Given the description of an element on the screen output the (x, y) to click on. 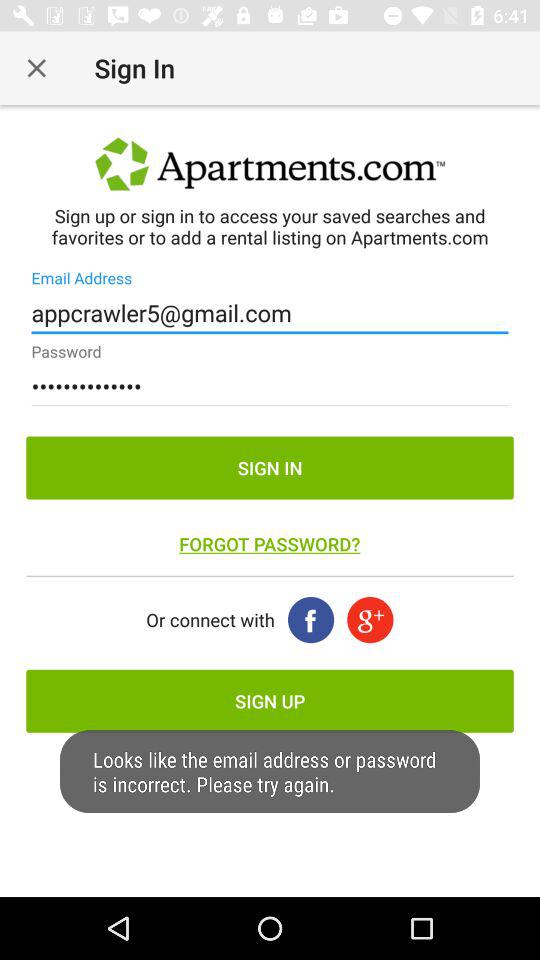
close (36, 68)
